Given the description of an element on the screen output the (x, y) to click on. 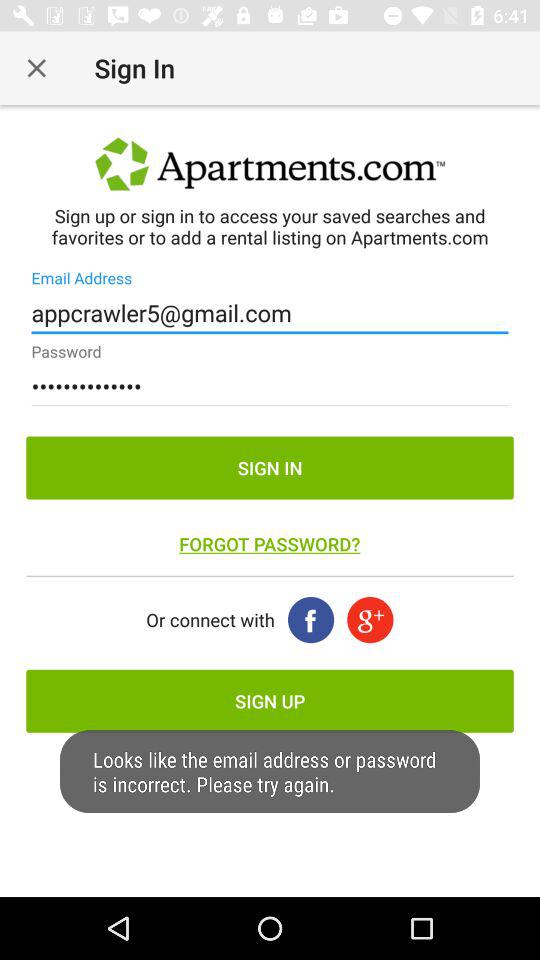
close (36, 68)
